Given the description of an element on the screen output the (x, y) to click on. 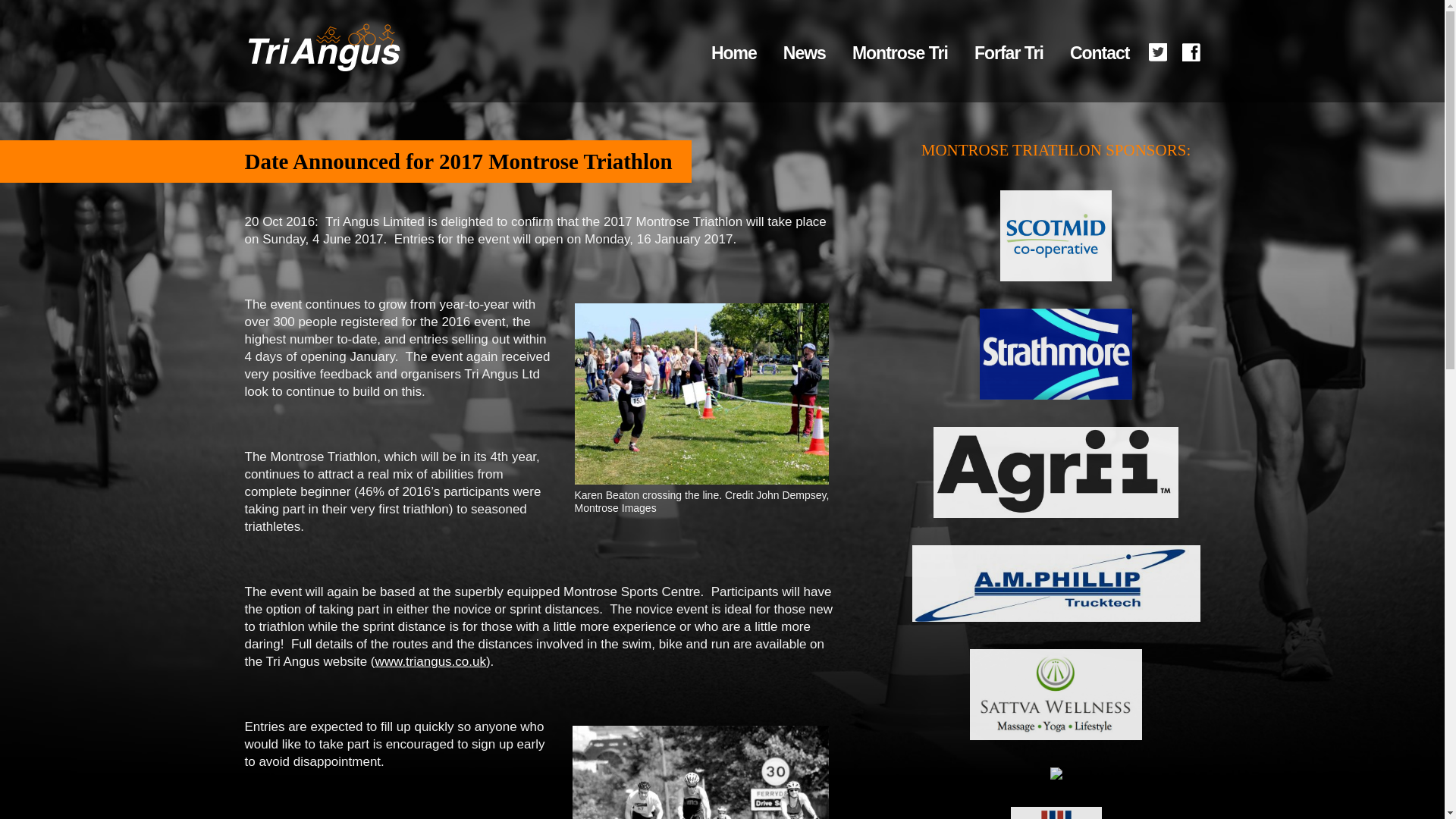
Forfar Tri (1008, 52)
Montrose Tri (899, 52)
www.triangus.co.uk (429, 661)
Home (733, 52)
Contact (1099, 52)
News (804, 52)
